Given the description of an element on the screen output the (x, y) to click on. 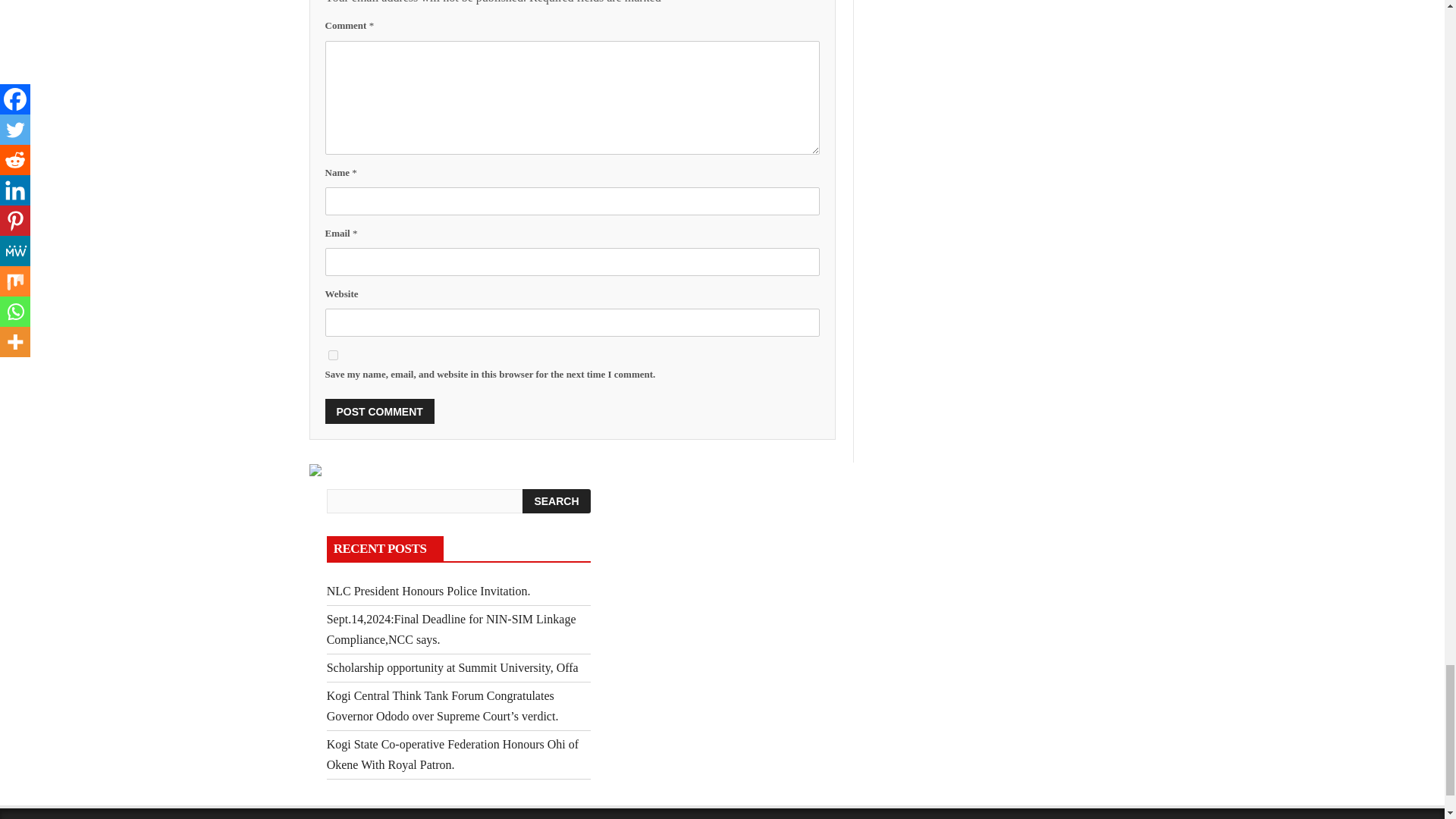
Post Comment (378, 411)
Search (555, 500)
yes (332, 355)
